Given the description of an element on the screen output the (x, y) to click on. 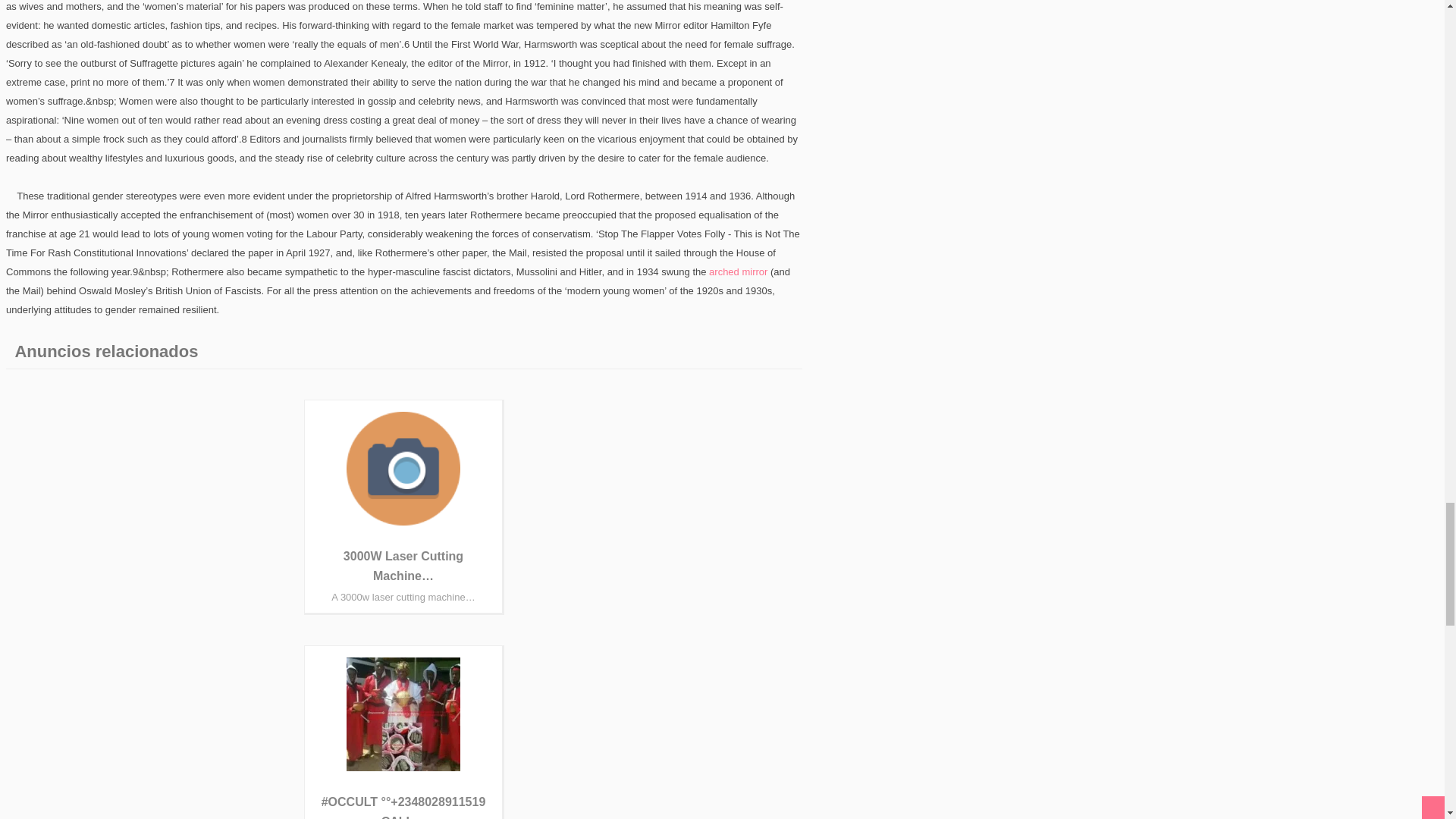
arched mirror (738, 271)
